Given the description of an element on the screen output the (x, y) to click on. 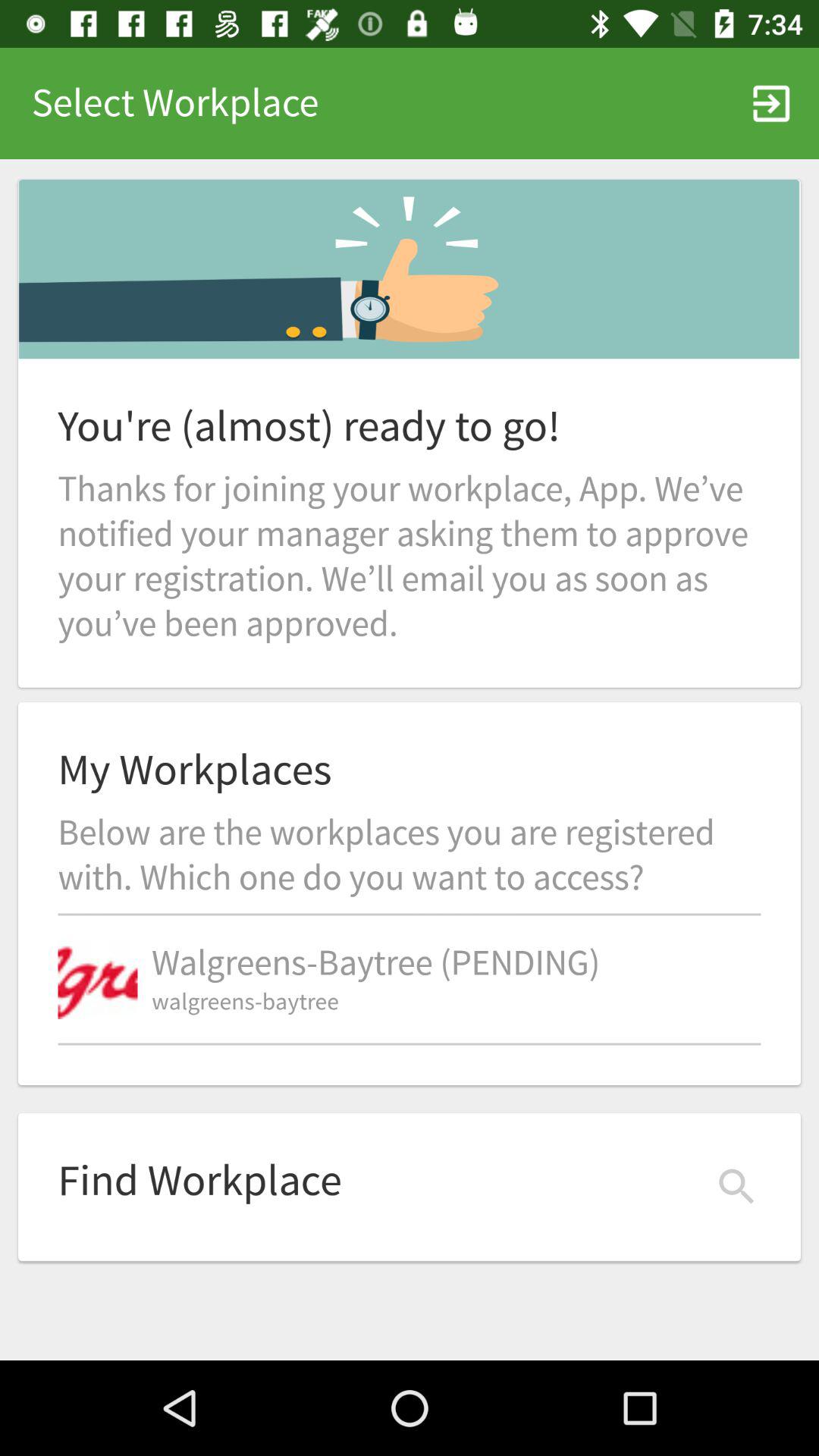
click item to the right of select workplace (771, 103)
